Given the description of an element on the screen output the (x, y) to click on. 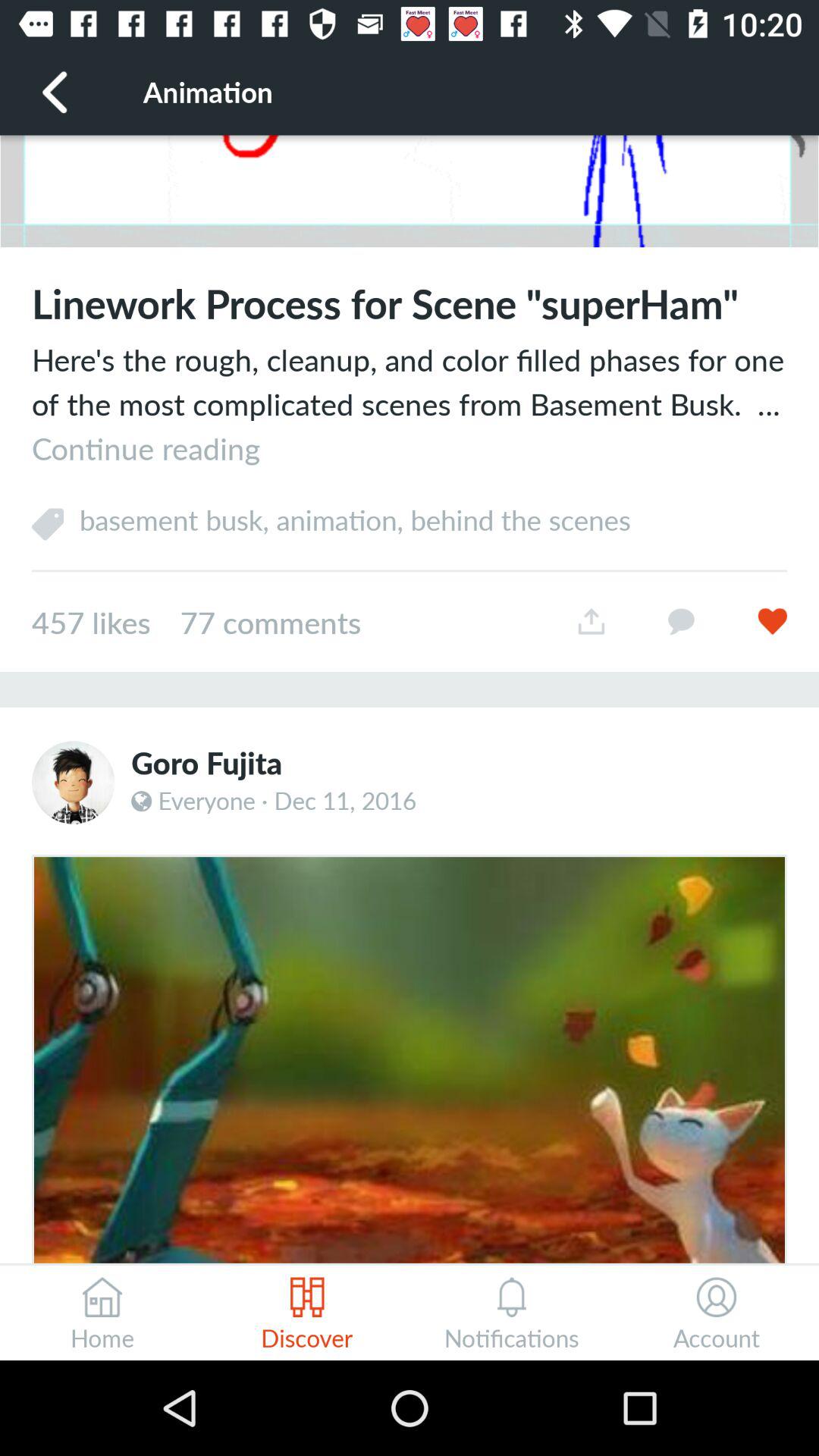
tap the icon above basement busk animation icon (409, 403)
